Given the description of an element on the screen output the (x, y) to click on. 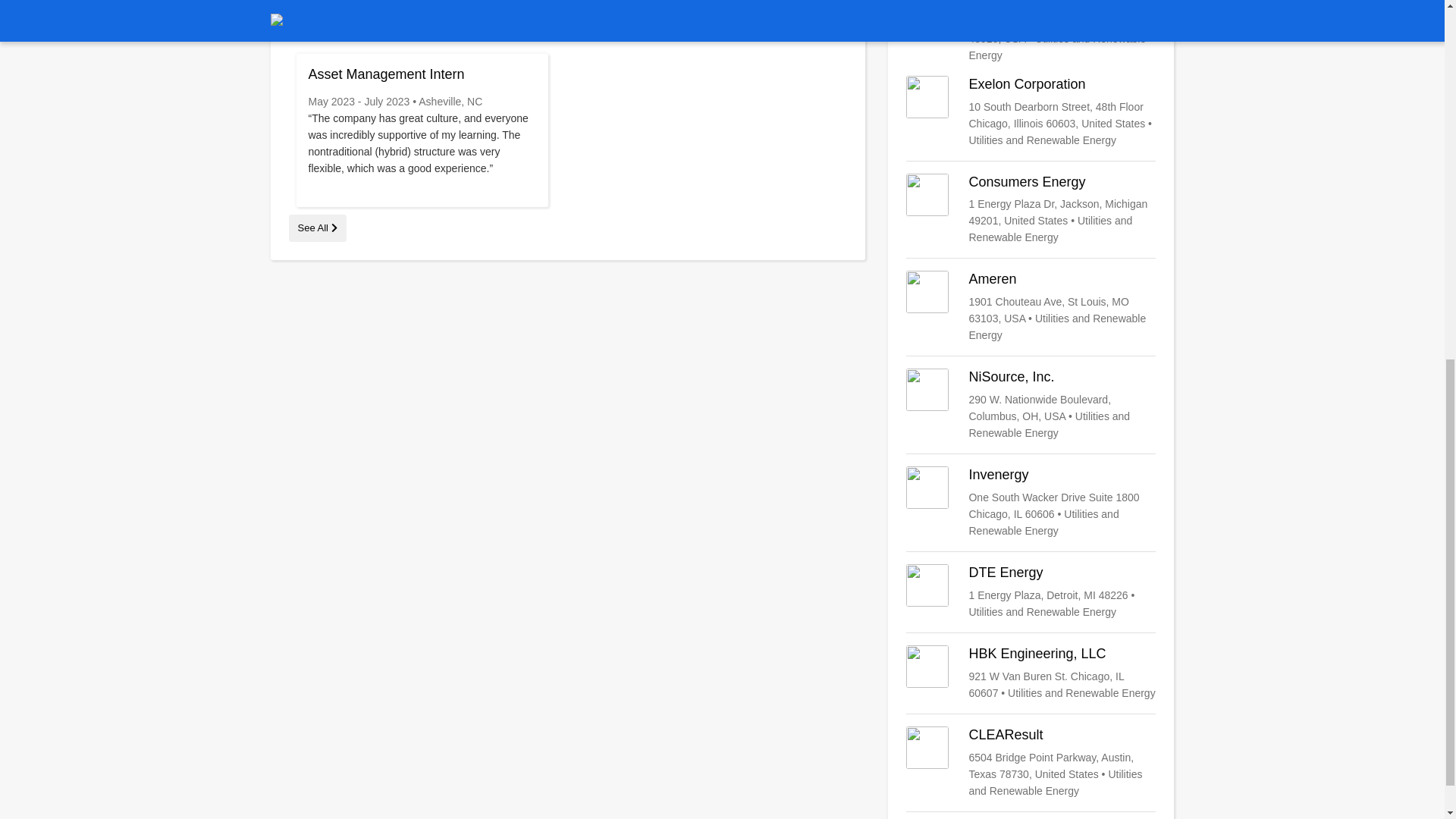
Consumers Energy (1030, 209)
Ameren (1030, 307)
NiSource, Inc. (1030, 404)
Exelon Corporation (1030, 112)
See All (317, 227)
Invenergy (1030, 502)
CLEAResult (1030, 762)
DTE Energy (1030, 591)
Lansing Board of Water and Light (1030, 31)
HBK Engineering, LLC (1030, 673)
